Given the description of an element on the screen output the (x, y) to click on. 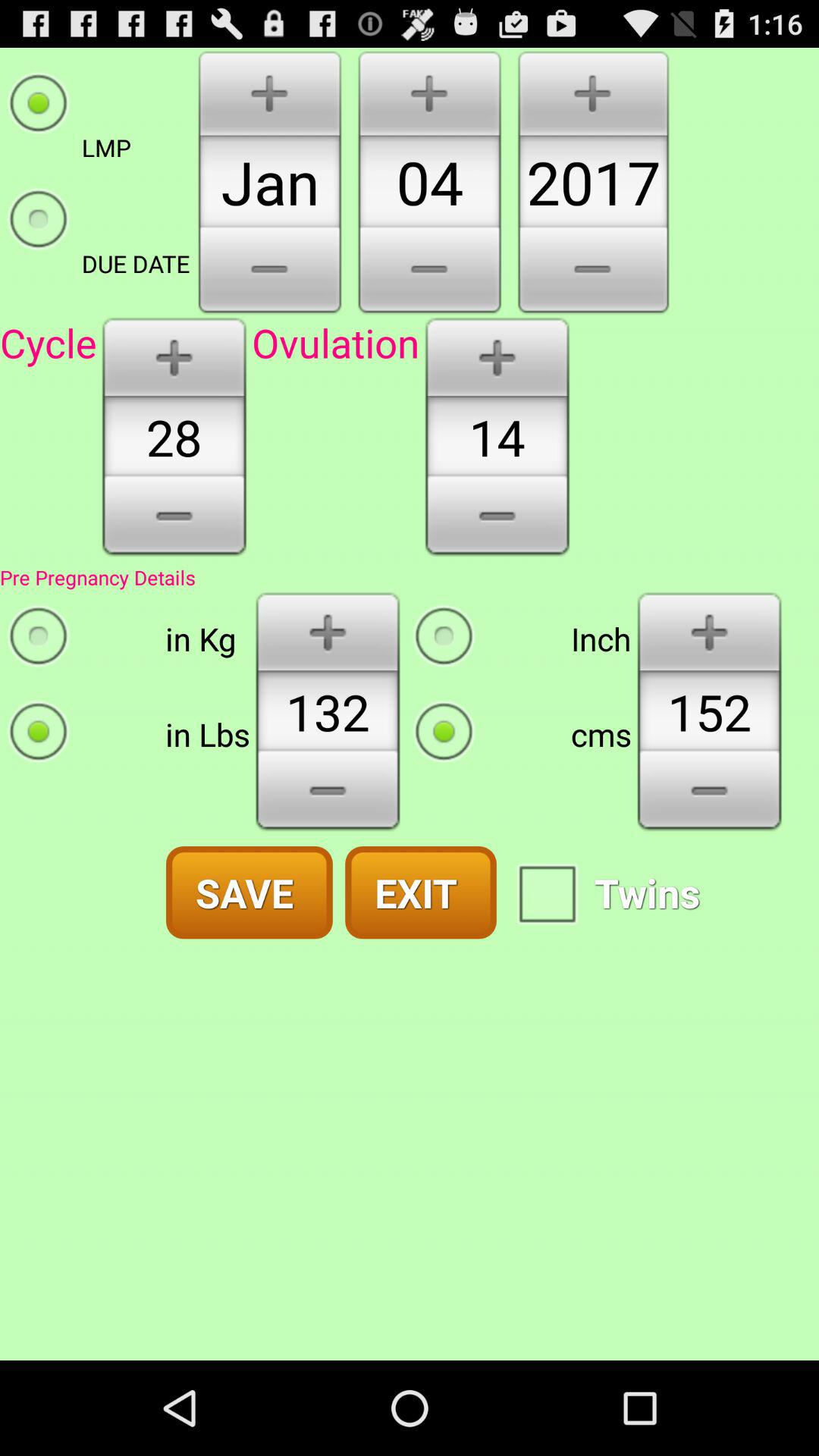
add an inch (709, 630)
